Given the description of an element on the screen output the (x, y) to click on. 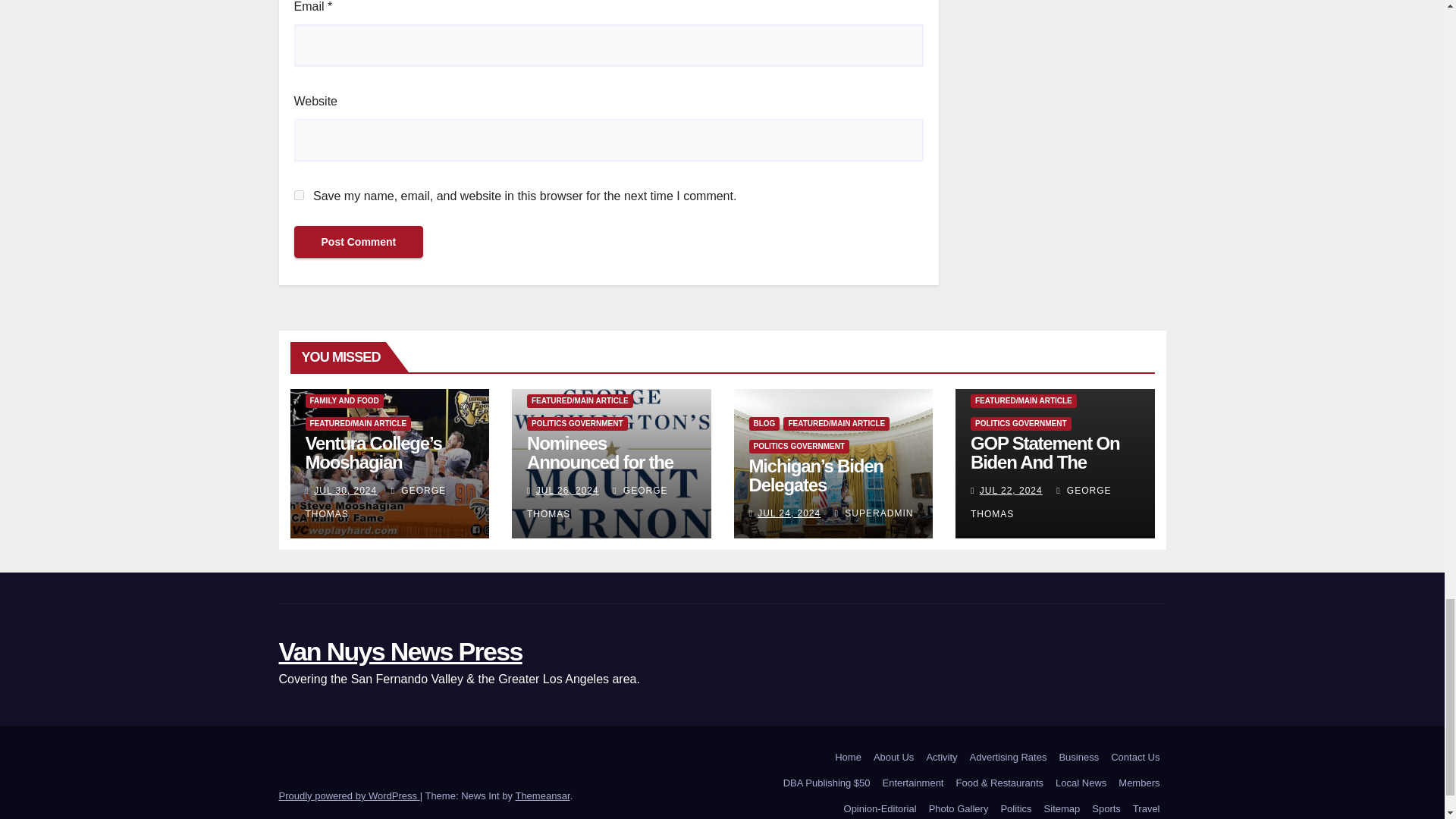
Home (847, 757)
yes (299, 194)
Post Comment (358, 241)
